Given the description of an element on the screen output the (x, y) to click on. 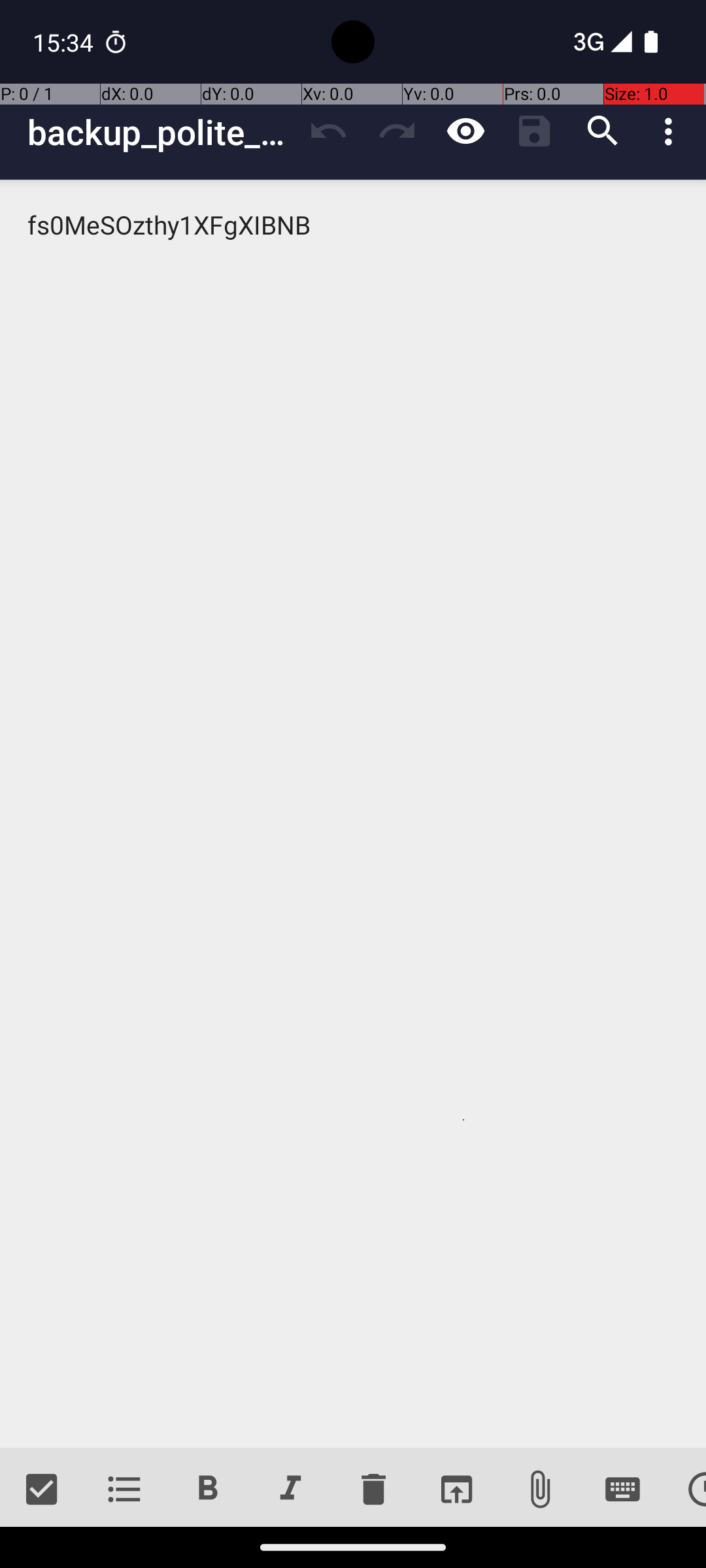
backup_polite_umbrella Element type: android.widget.TextView (160, 131)
fs0MeSOzthy1XFgXIBNB
 Element type: android.widget.EditText (353, 813)
